Given the description of an element on the screen output the (x, y) to click on. 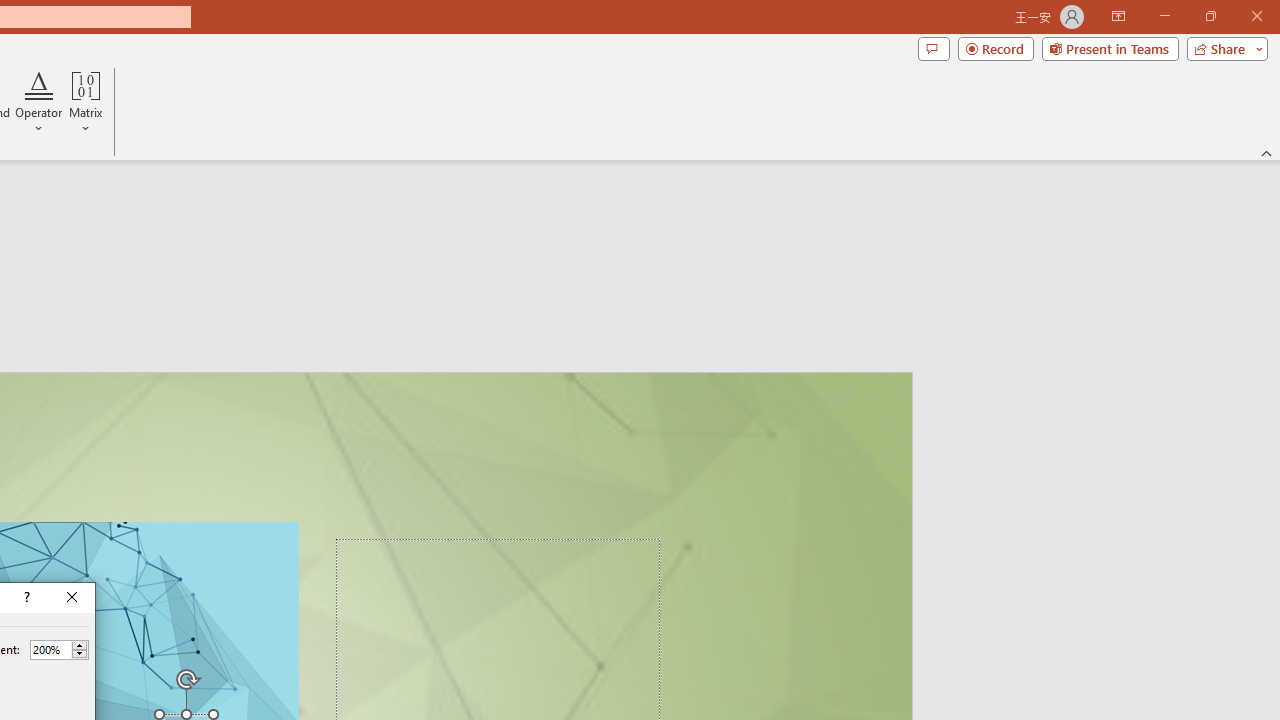
Percent (50, 649)
Matrix (86, 102)
Context help (25, 597)
Operator (38, 102)
Percent (59, 650)
